Given the description of an element on the screen output the (x, y) to click on. 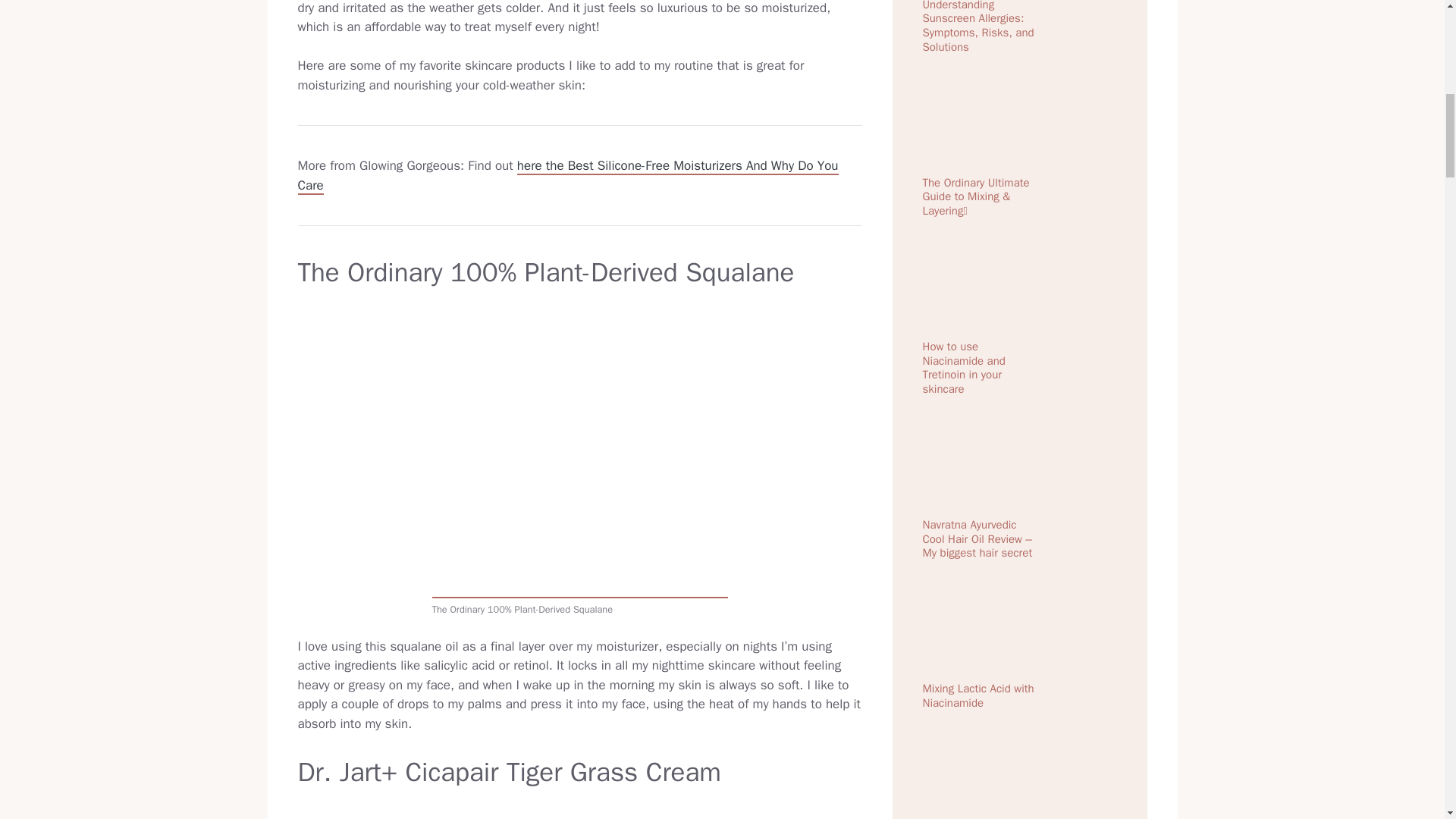
Scroll back to top (1406, 720)
